Given the description of an element on the screen output the (x, y) to click on. 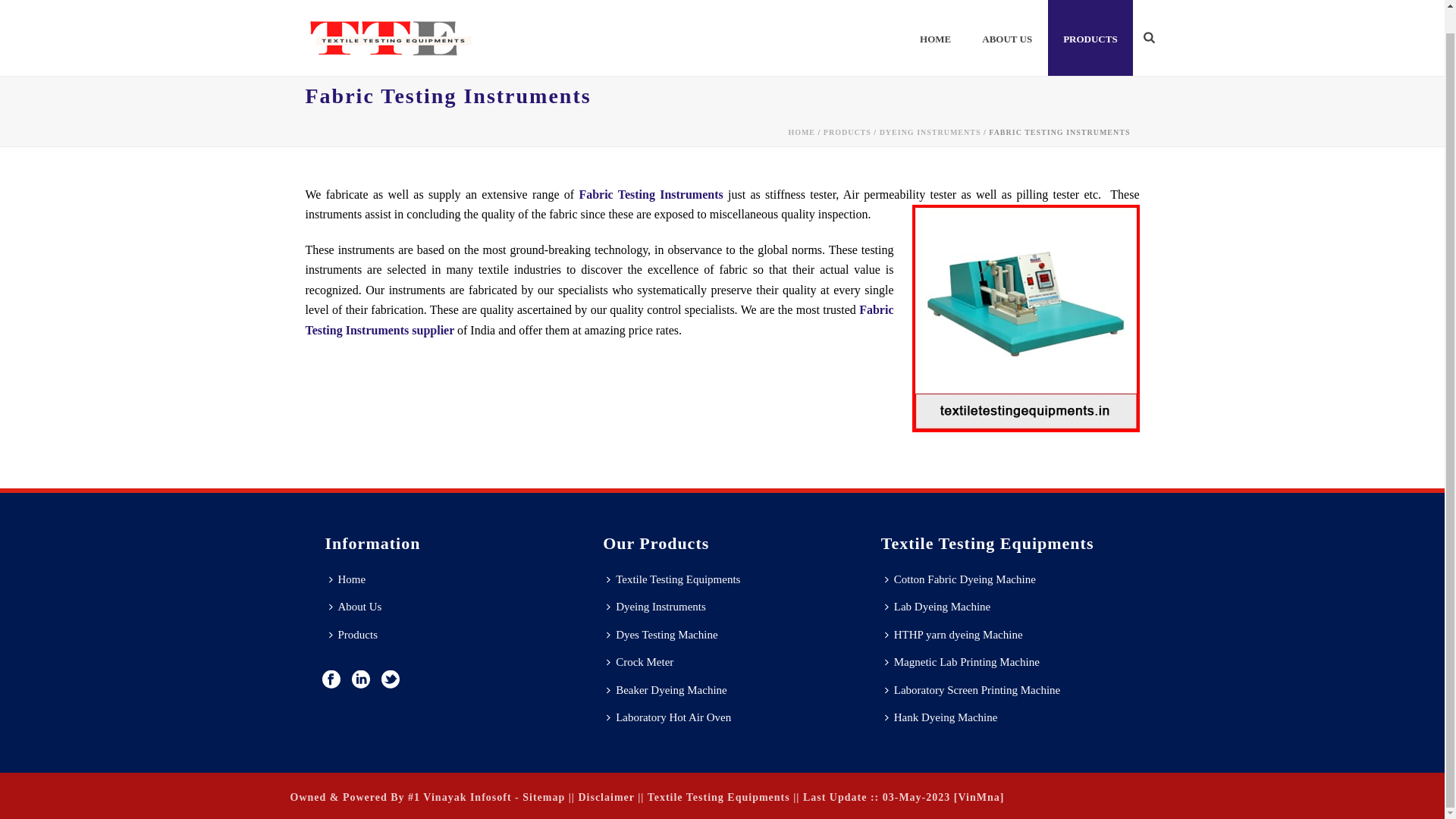
 linkedin (360, 680)
 facebook (330, 680)
Textile Testing Equipment Manufacturer (390, 26)
PRODUCTS (1090, 26)
HOME (935, 26)
ABOUT US (1006, 26)
ABOUT US (1006, 26)
HOME (935, 26)
PRODUCTS (1090, 26)
